Given the description of an element on the screen output the (x, y) to click on. 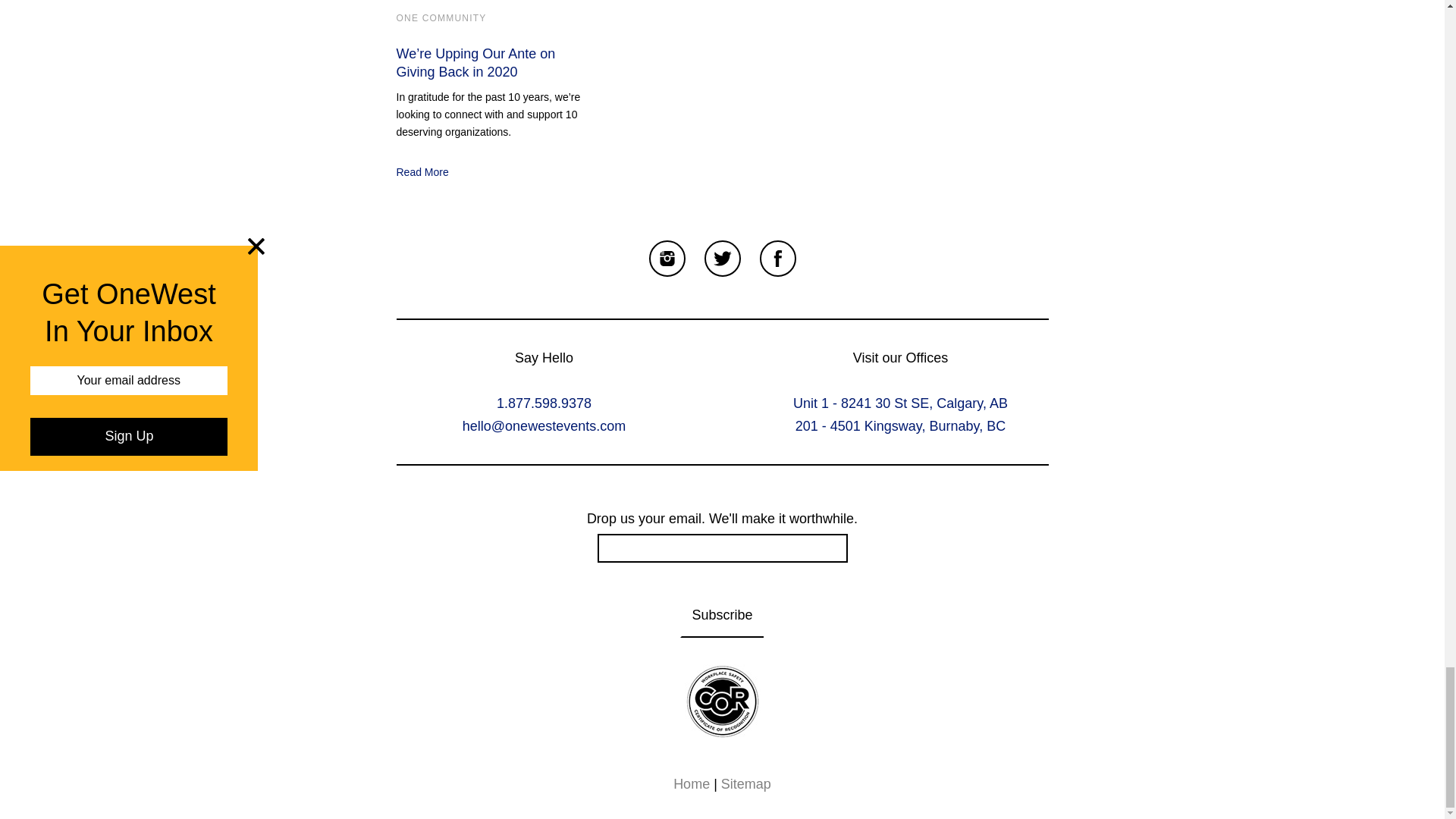
Home (691, 783)
Sitemap (745, 783)
